Given the description of an element on the screen output the (x, y) to click on. 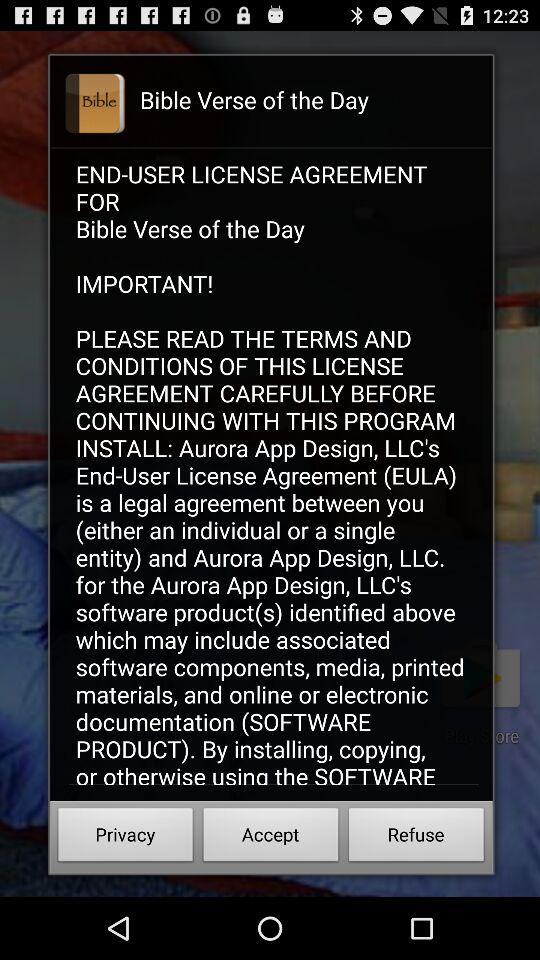
select the icon below end user license item (270, 837)
